Given the description of an element on the screen output the (x, y) to click on. 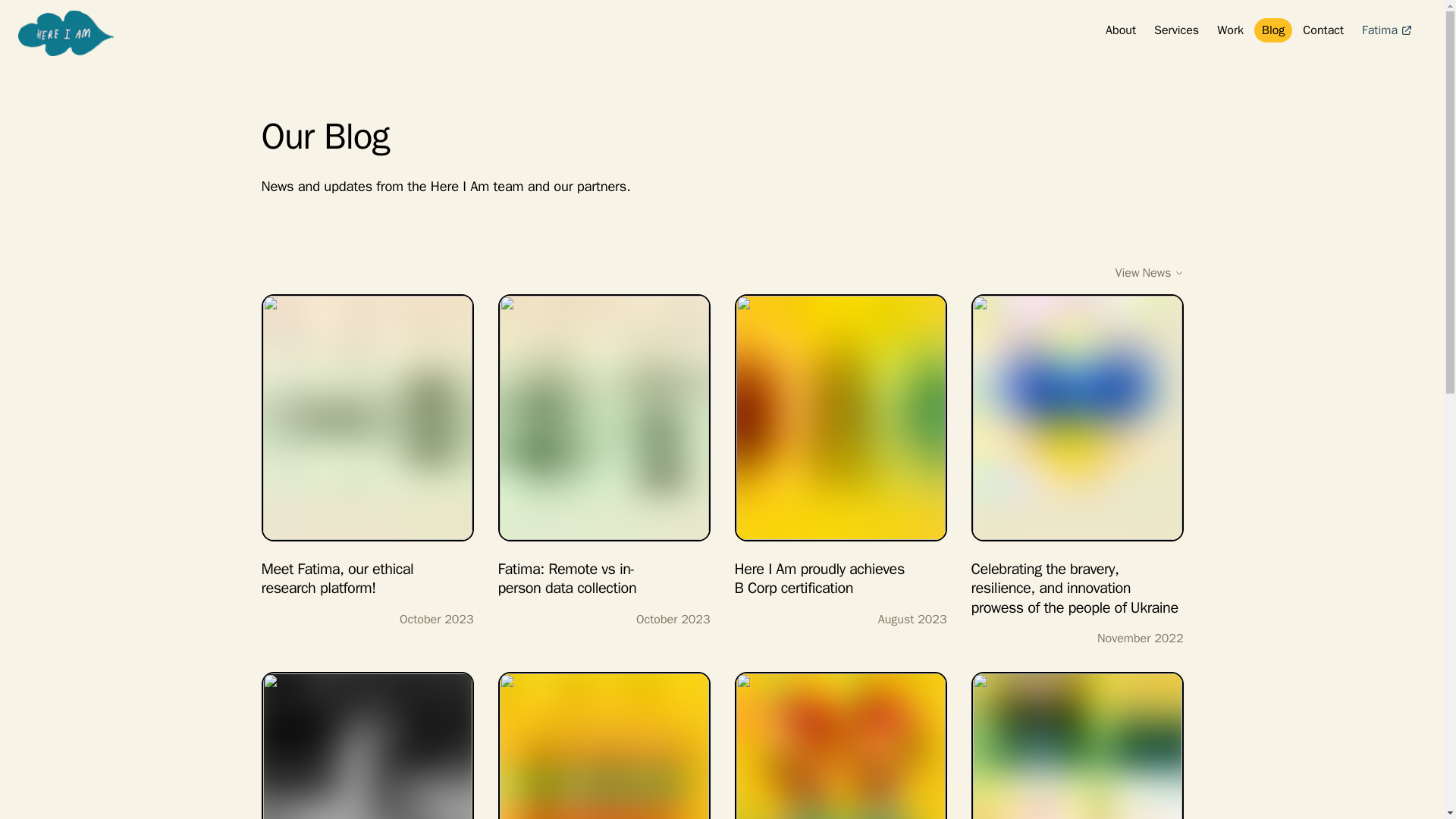
Here I Am proudly achieves B Corp certification (839, 446)
Our 2022 Commitment (839, 745)
Meet Fatima, our ethical research platform! (366, 446)
Blog (1149, 273)
Supporting women in the workplace: Kate Greenstock (1272, 30)
Fatima (603, 745)
Fatima: Remote vs in-person data collection (1387, 30)
About (603, 446)
Services (1119, 30)
Contact (1177, 30)
Work (1323, 30)
